Given the description of an element on the screen output the (x, y) to click on. 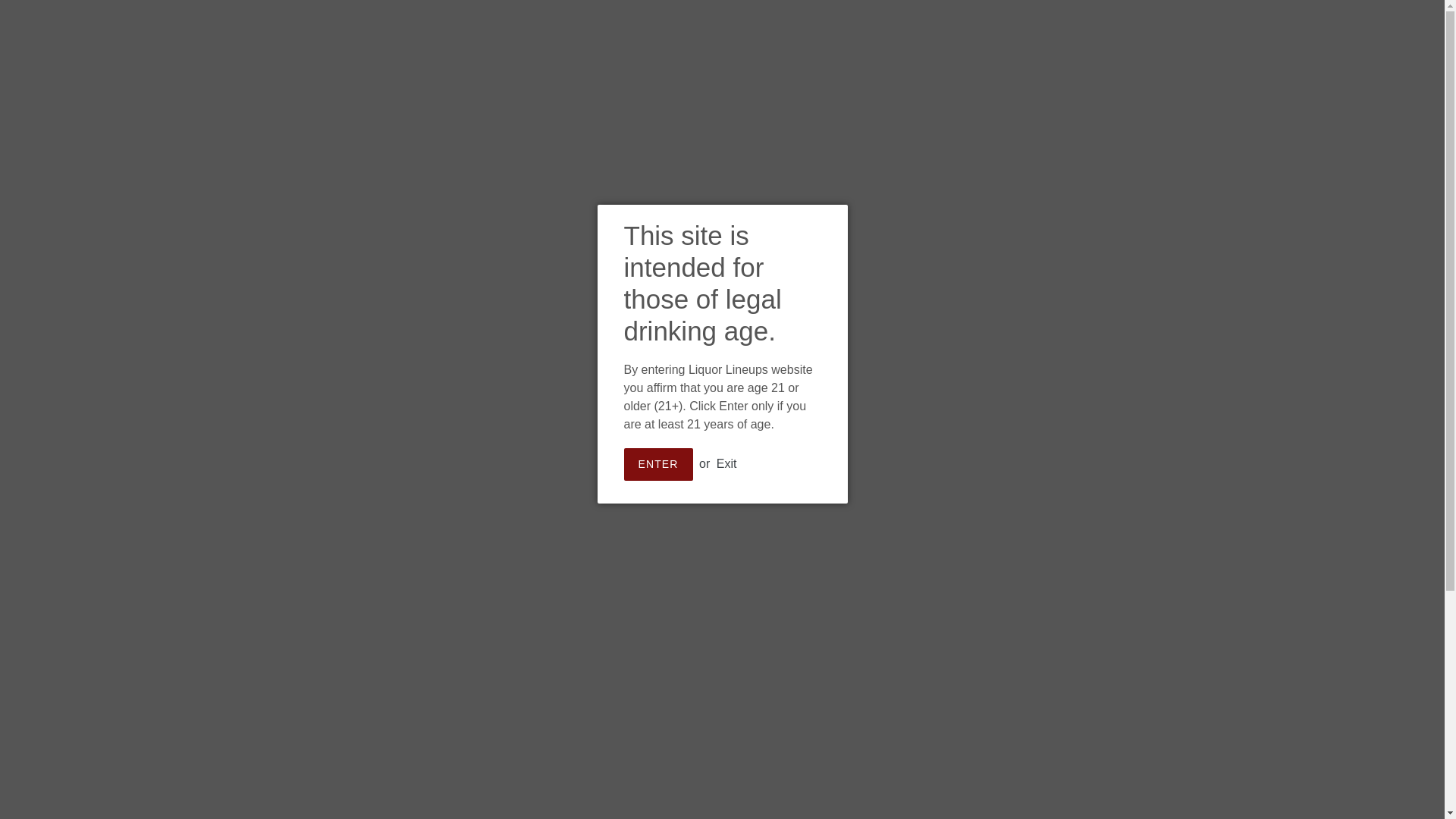
ADD TO CART (884, 314)
Fine Wines (783, 82)
Gift Cards (975, 105)
Handpicked Whiskey (768, 699)
Delivery Policies (497, 105)
Store Picks (876, 82)
Submit (646, 82)
Tequila (1326, 93)
Log in (715, 82)
